Given the description of an element on the screen output the (x, y) to click on. 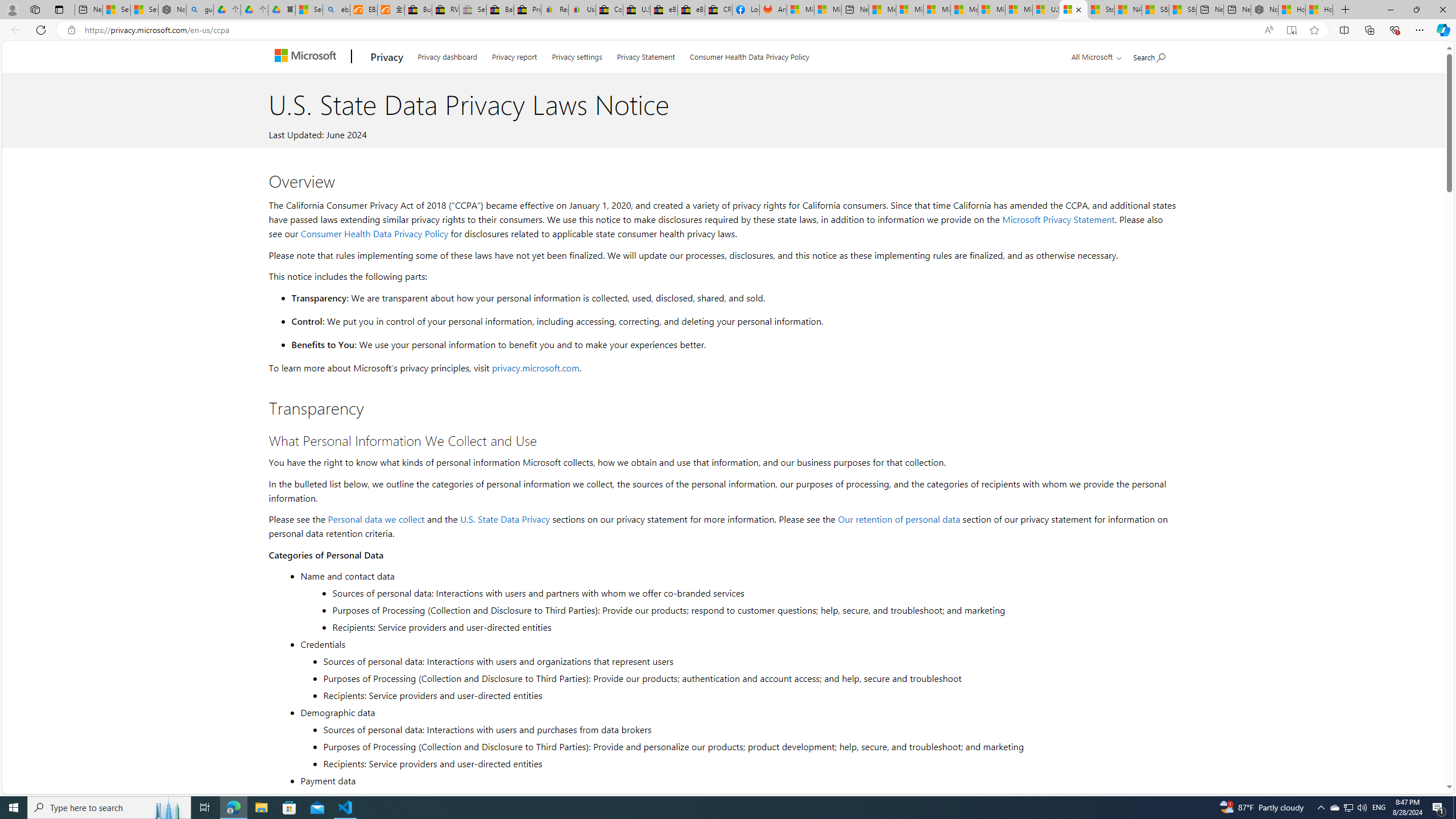
Privacy Statement (645, 54)
Payment data (736, 780)
Privacy settings (576, 54)
Personal data we collect (376, 518)
Register: Create a personal eBay account (554, 9)
Consumer Health Data Privacy Policy (373, 233)
Privacy report (514, 54)
Baby Keepsakes & Announcements for sale | eBay (499, 9)
User Privacy Notice | eBay (581, 9)
